Given the description of an element on the screen output the (x, y) to click on. 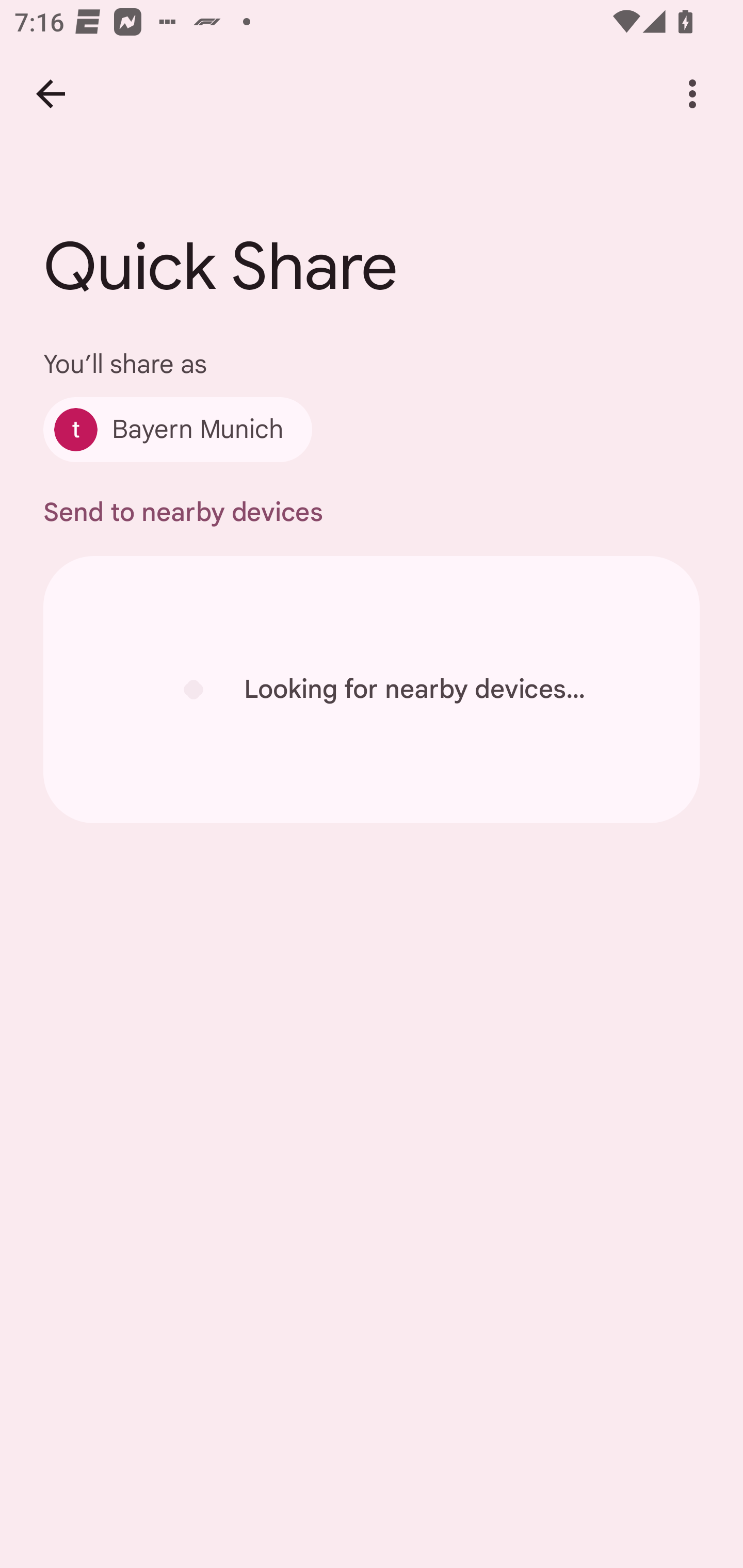
Back (50, 93)
More (692, 93)
Bayern Munich (177, 429)
